Given the description of an element on the screen output the (x, y) to click on. 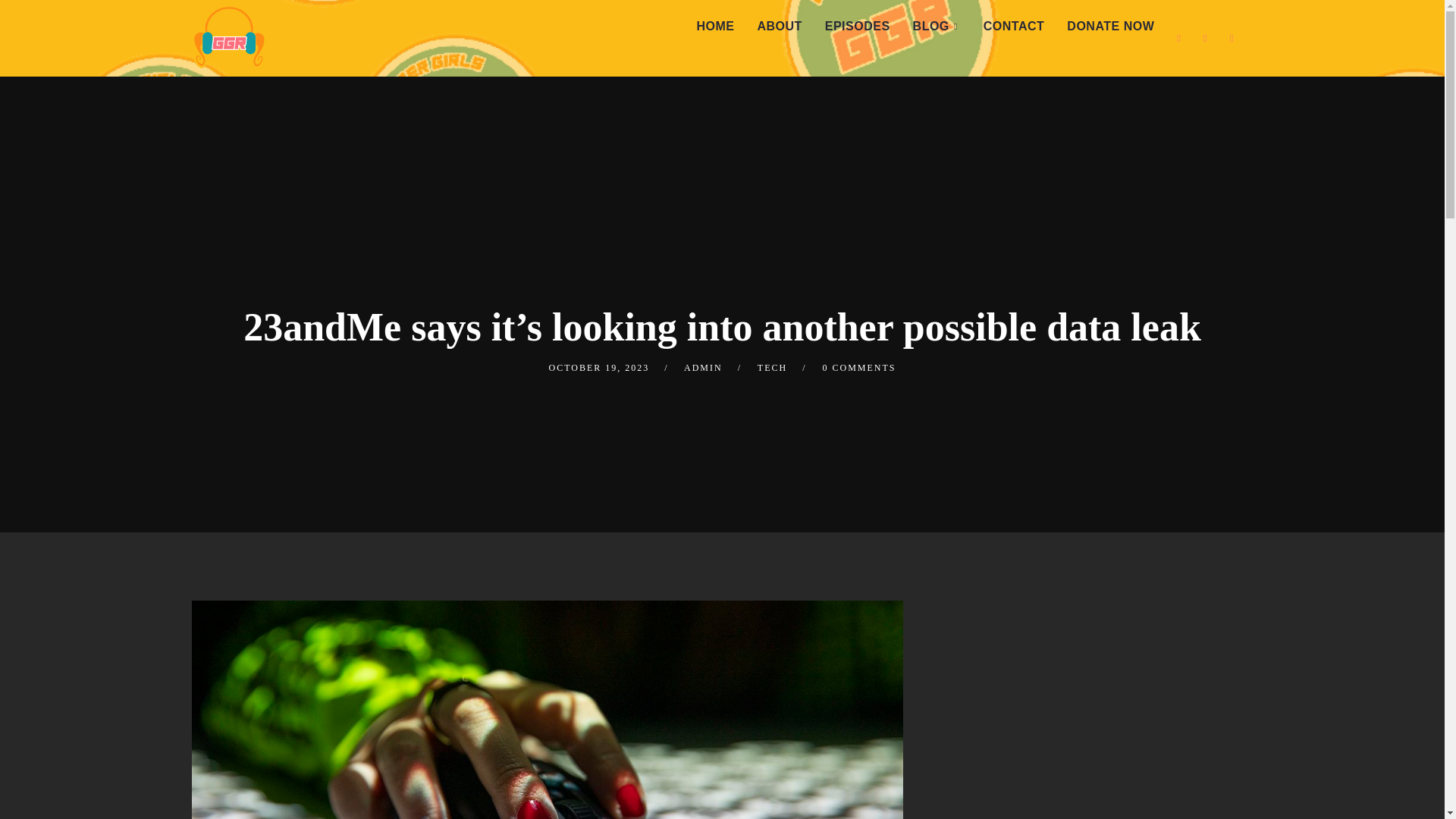
0 COMMENTS (858, 367)
ABOUT (778, 26)
DONATE NOW (1110, 26)
Submit (32, 22)
CONTACT (1014, 26)
EPISODES (857, 26)
TECH (772, 367)
HOME (714, 26)
BLOG (936, 26)
Gamer Girls Radio (228, 35)
ADMIN (703, 367)
